Given the description of an element on the screen output the (x, y) to click on. 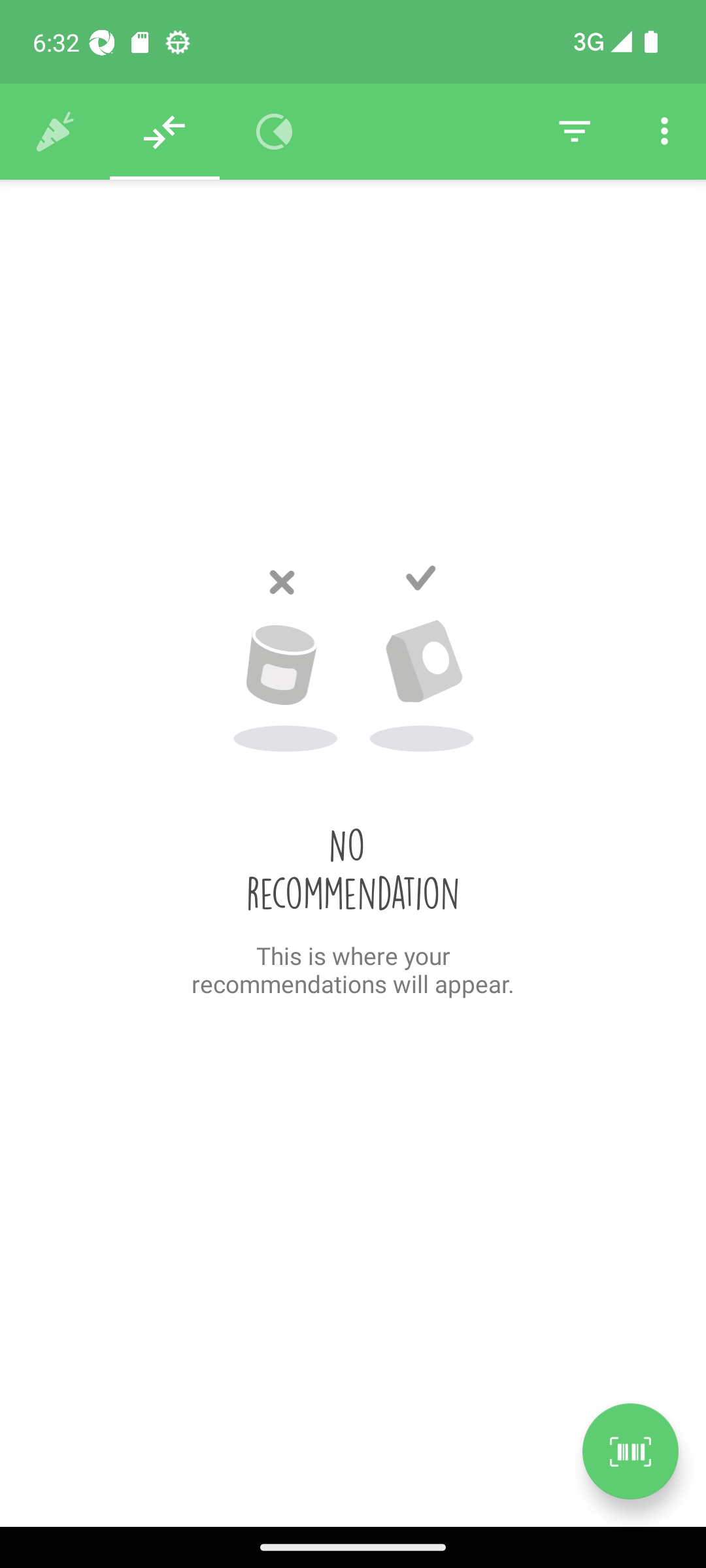
History (55, 131)
Overview (274, 131)
Filter (573, 131)
Settings (664, 131)
Scan a product (630, 1451)
